Given the description of an element on the screen output the (x, y) to click on. 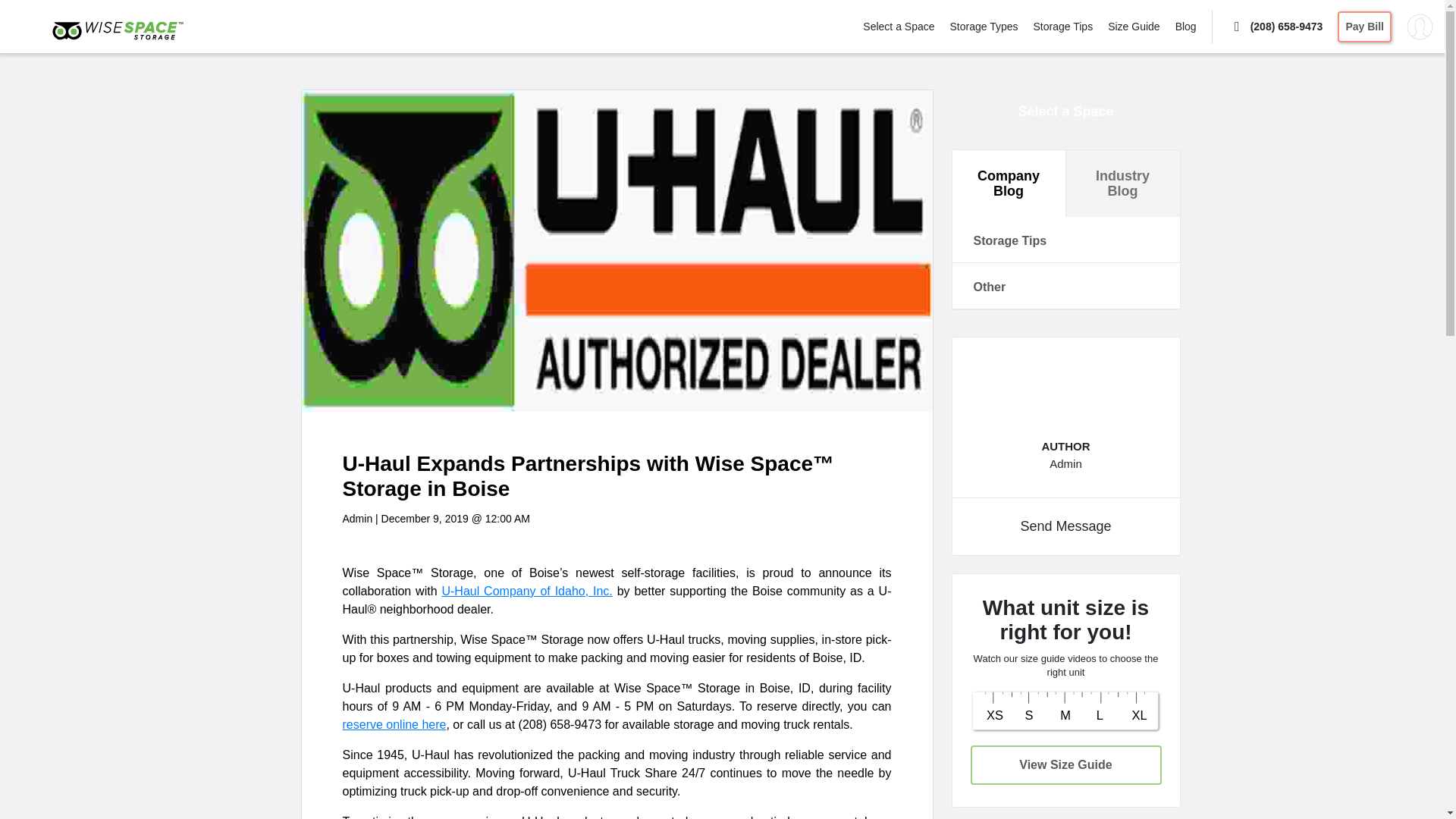
Select a Space (898, 25)
Storage Tips (1063, 25)
Call (1275, 26)
Select a Space (898, 25)
Company Blog (1008, 183)
Industry Blog (1122, 183)
My account (1419, 25)
Select a Space (1064, 111)
Storage Types (983, 25)
Pay Bill (1364, 25)
Blog (1185, 25)
reserve online here (394, 724)
Size Guide (1133, 25)
Storage Tips (1065, 239)
Pay Bill (1364, 25)
